Given the description of an element on the screen output the (x, y) to click on. 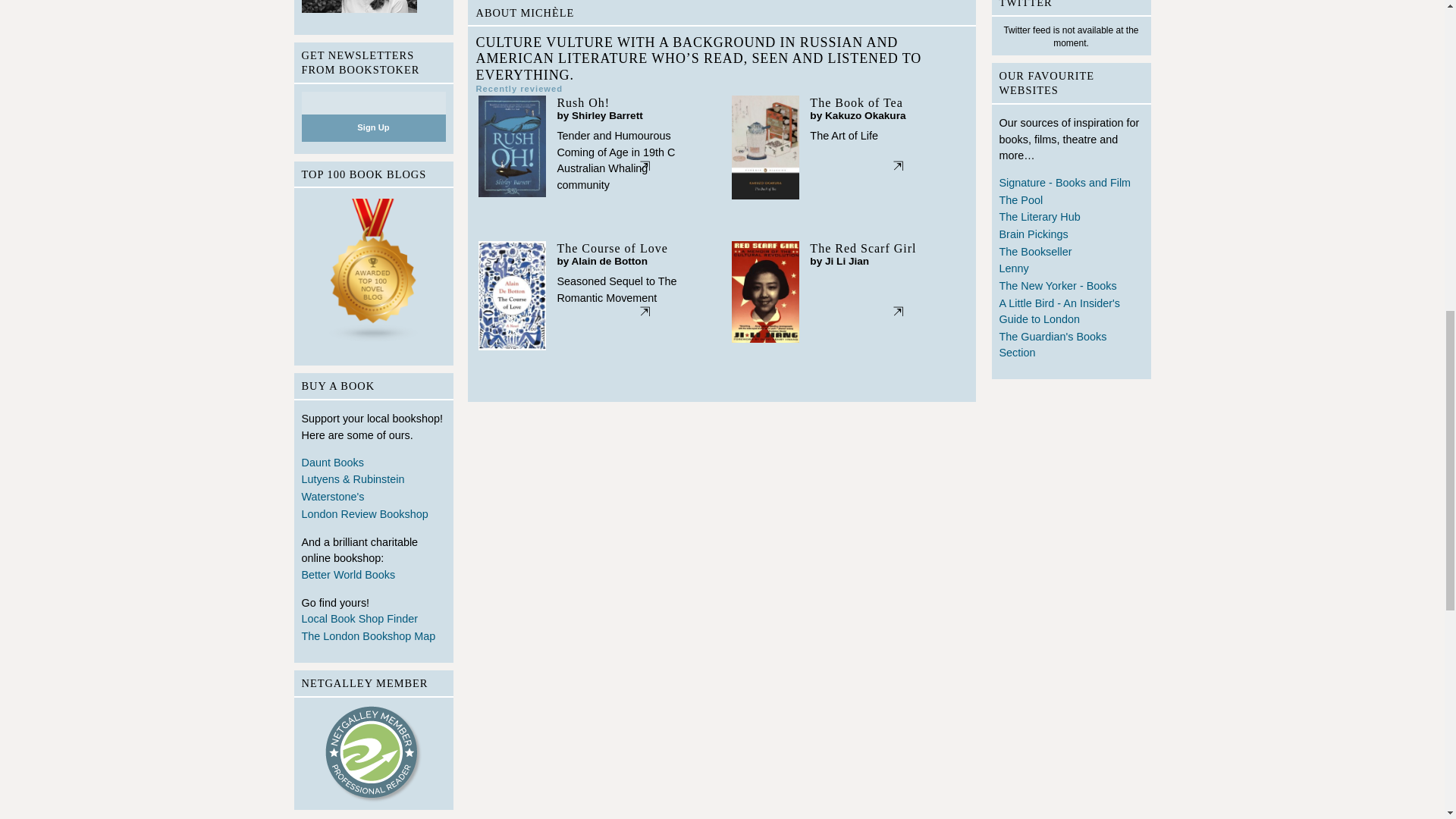
Sign Up (373, 127)
Daunt Books (373, 463)
Novel blogs (373, 273)
Waterstone's (373, 497)
Professional Reader (373, 754)
Sign Up (373, 127)
London Review Bookshop (373, 515)
